Given the description of an element on the screen output the (x, y) to click on. 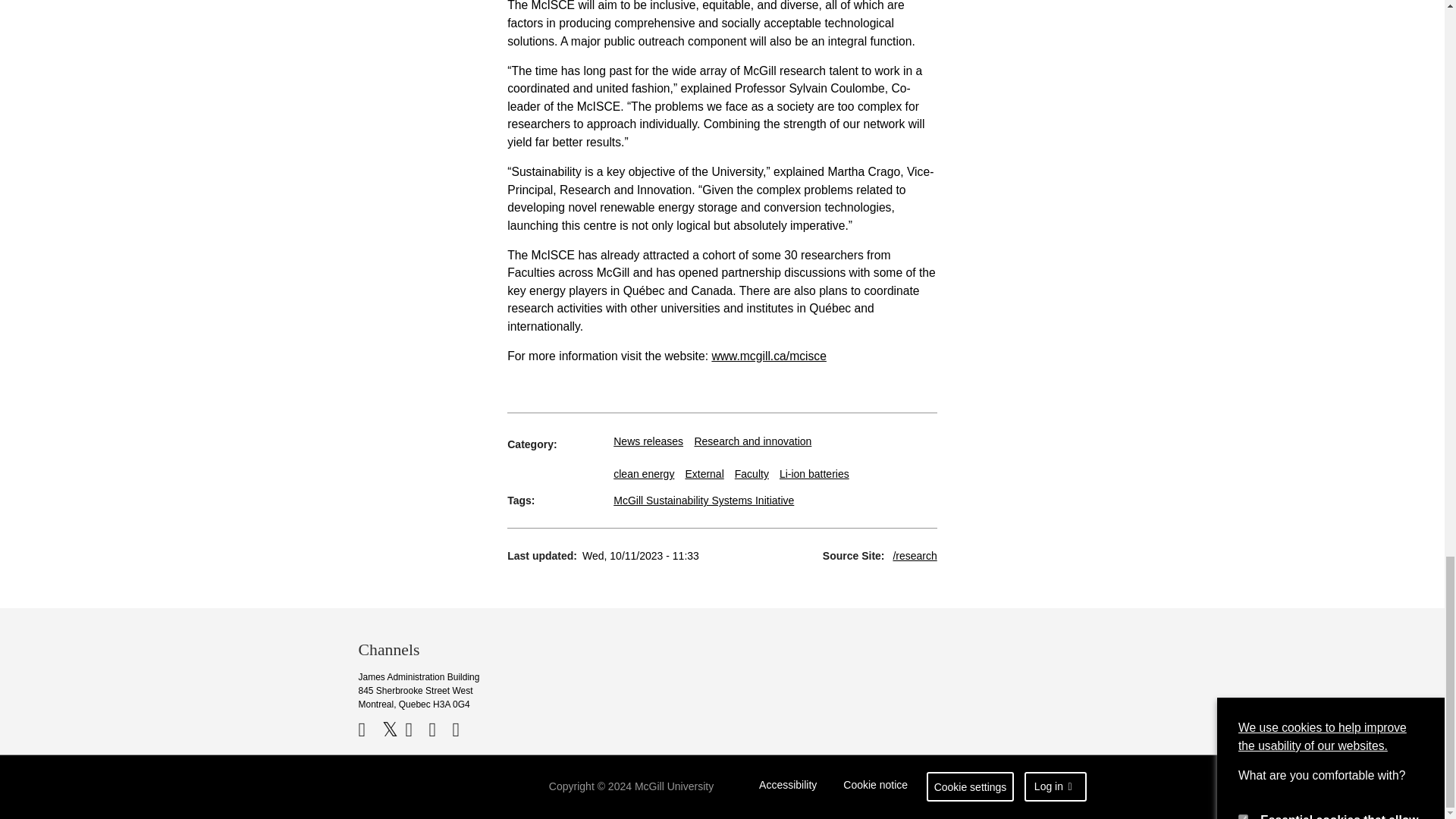
Follow us on Facebook (368, 729)
Accessibility (788, 786)
External (703, 473)
Faculty (751, 473)
Log in (1055, 786)
Cookie settings (970, 786)
Facebook (368, 729)
Accessibility (788, 786)
News releases (647, 440)
Follow us on YouTube (414, 729)
